Given the description of an element on the screen output the (x, y) to click on. 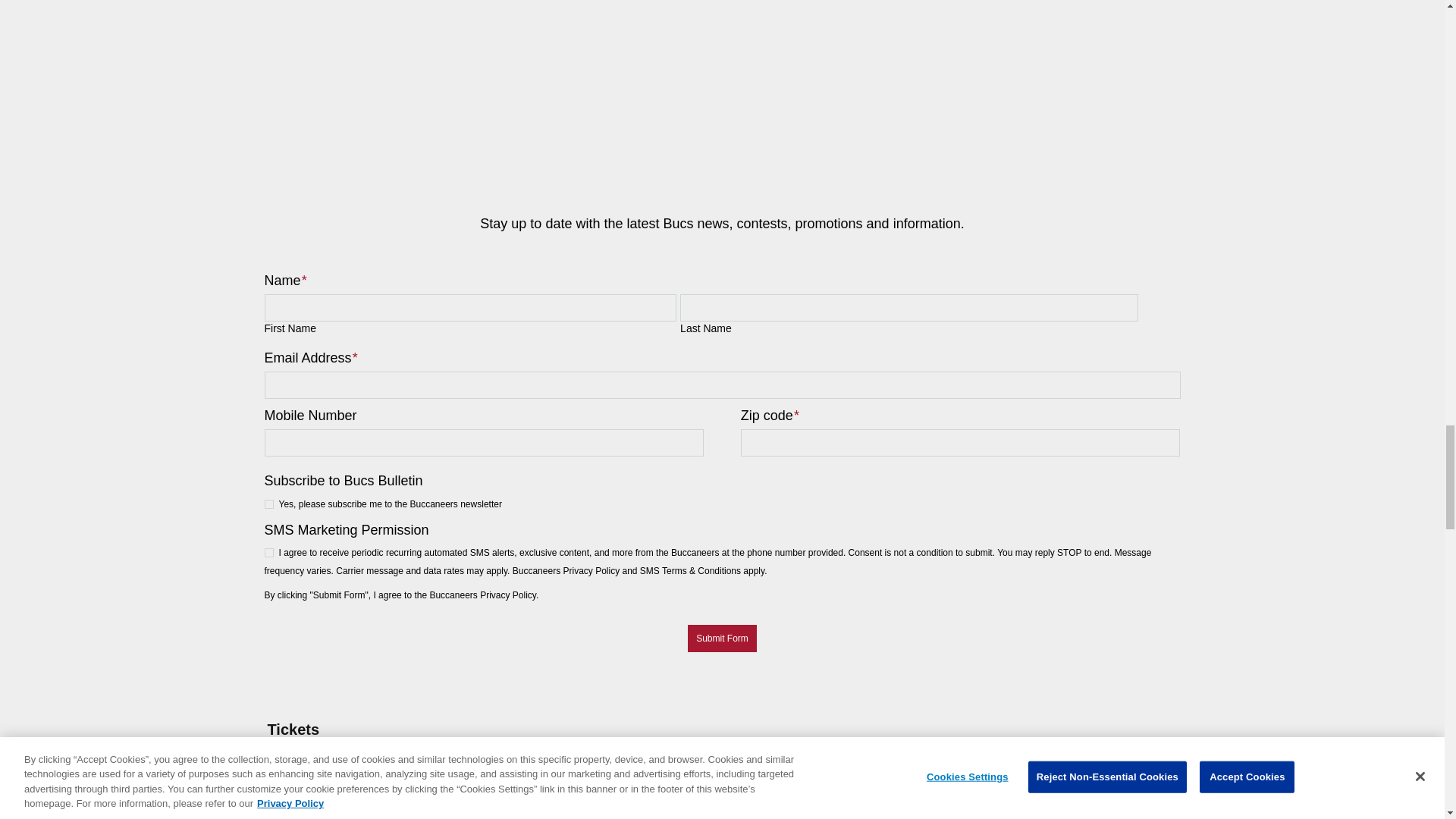
Yes, please subscribe me to the Buccaneers newsletter (268, 503)
Submit Form (722, 637)
